Given the description of an element on the screen output the (x, y) to click on. 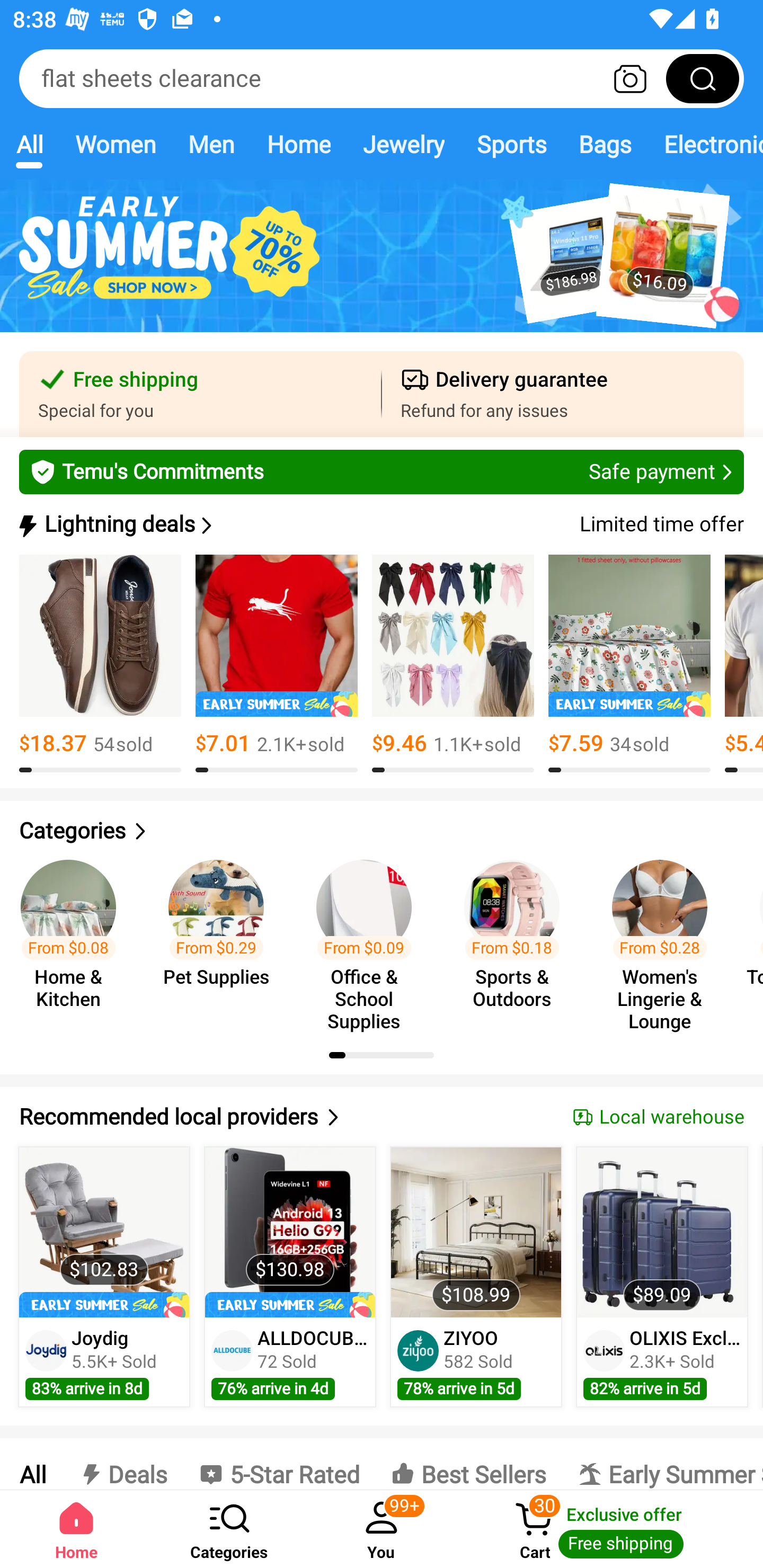
flat sheets clearance (381, 78)
All (29, 144)
Women (115, 144)
Men (211, 144)
Home (298, 144)
Jewelry (403, 144)
Sports (511, 144)
Bags (605, 144)
Electronics (705, 144)
$186.98 $16.09 (381, 265)
Free shipping Special for you (200, 394)
Delivery guarantee Refund for any issues (562, 394)
Temu's Commitments (381, 471)
Lightning deals Lightning deals Limited time offer (379, 524)
$18.37 54￼sold 8.0 (100, 664)
$7.01 2.1K+￼sold 8.0 (276, 664)
$9.46 1.1K+￼sold 8.0 (453, 664)
$7.59 34￼sold 8.0 (629, 664)
Categories (381, 830)
From $0.08 Home & Kitchen (74, 936)
From $0.29 Pet Supplies (222, 936)
From $0.09 Office & School Supplies (369, 936)
From $0.18 Sports & Outdoors (517, 936)
From $0.28 Women's Lingerie & Lounge (665, 936)
$102.83 Joydig 5.5K+ Sold 83% arrive in 8d (103, 1276)
$108.99 ZIYOO 582 Sold 78% arrive in 5d (475, 1276)
$102.83 (104, 1232)
$130.98 (290, 1232)
$108.99 (475, 1232)
$89.09 (661, 1232)
All (32, 1463)
Deals Deals Deals (122, 1463)
5-Star Rated 5-Star Rated 5-Star Rated (279, 1463)
Best Sellers Best Sellers Best Sellers (468, 1463)
Home (76, 1528)
Categories (228, 1528)
You ‎99+‎ You (381, 1528)
Cart 30 Cart Exclusive offer (610, 1528)
